Given the description of an element on the screen output the (x, y) to click on. 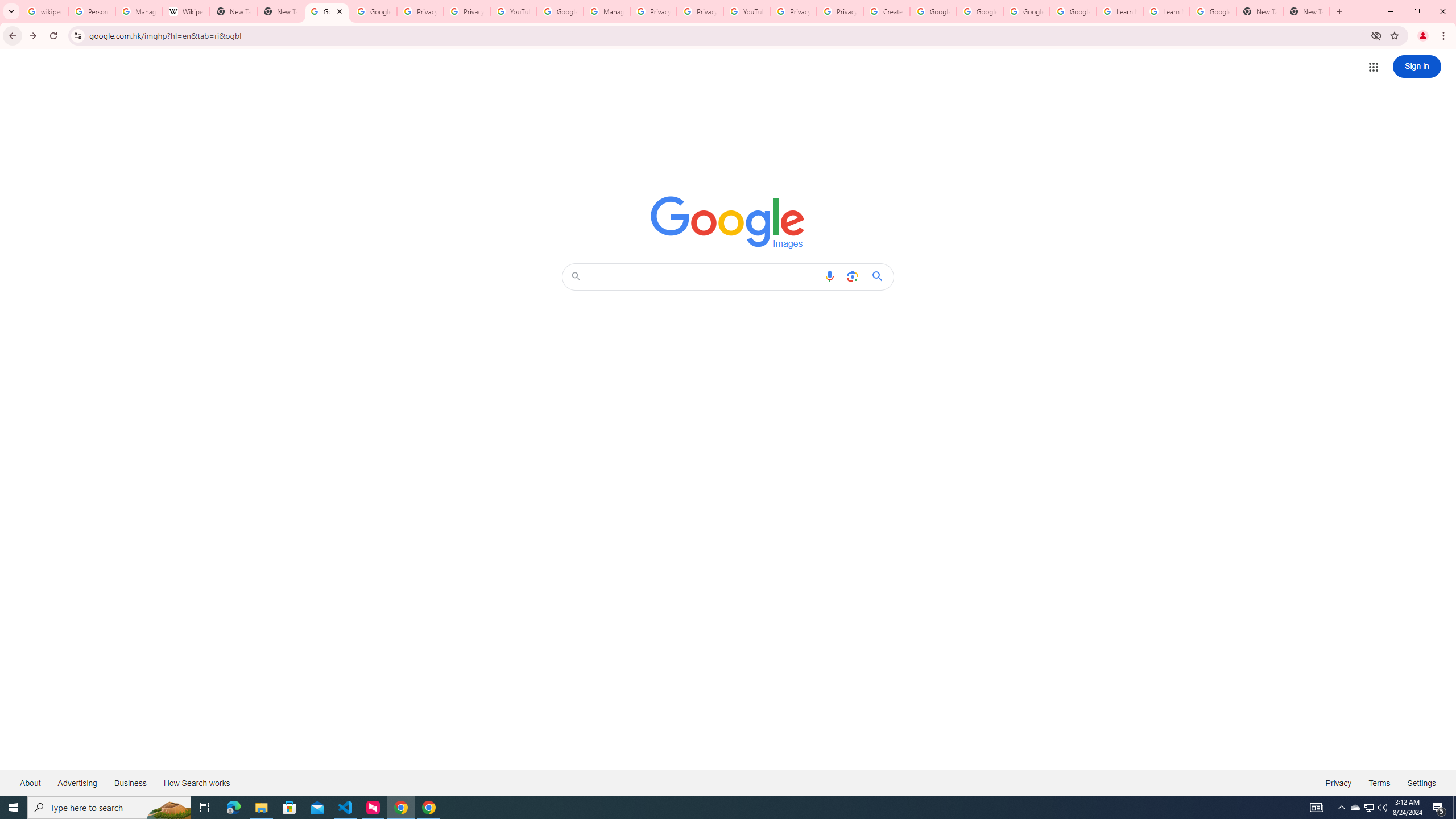
Google Account Help (933, 11)
Google Images (727, 222)
New Tab (1306, 11)
Personalization & Google Search results - Google Search Help (91, 11)
